Given the description of an element on the screen output the (x, y) to click on. 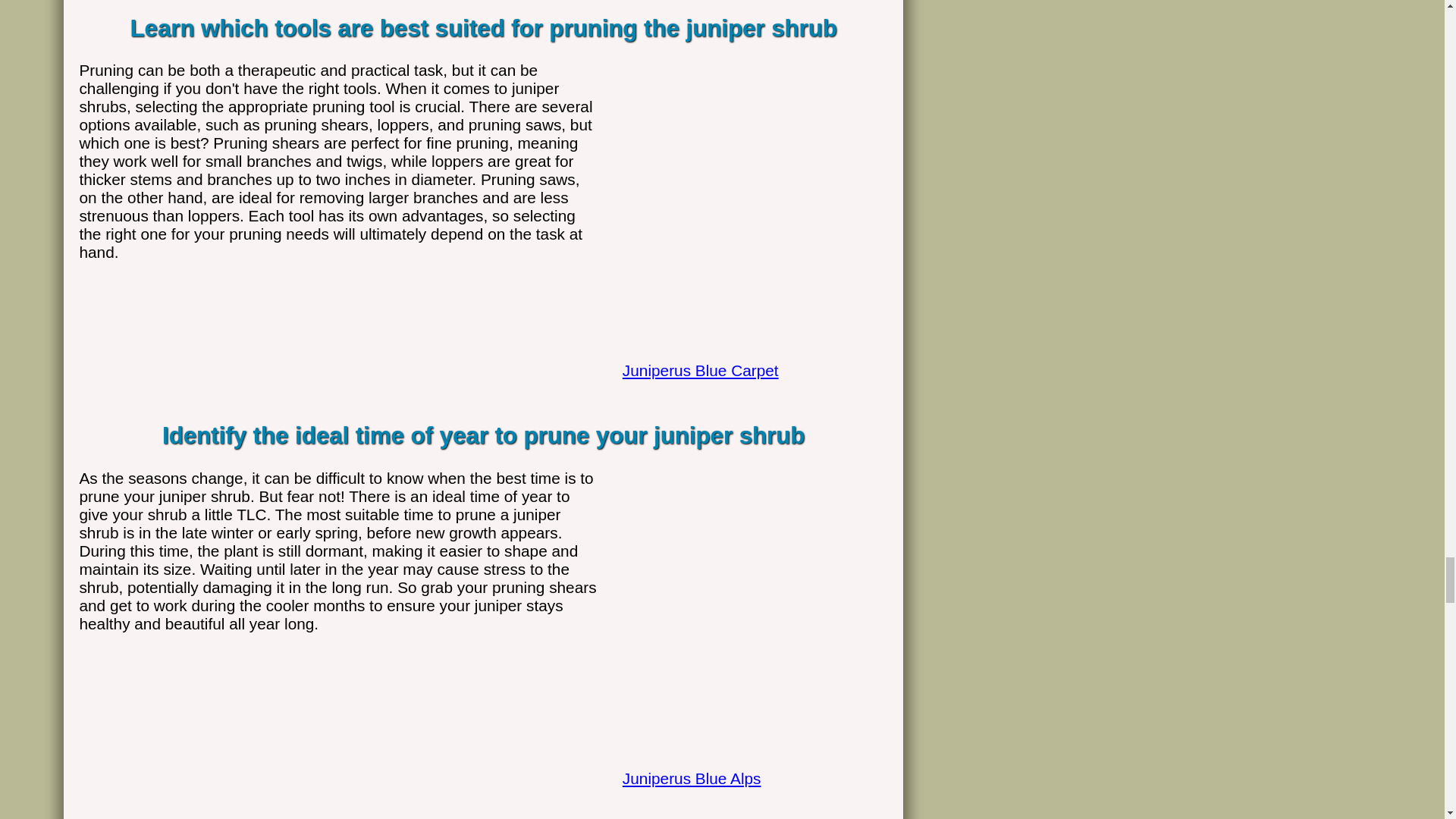
Juniperus Blue Carpet (747, 353)
Juniperus Blue Alps (747, 761)
